Given the description of an element on the screen output the (x, y) to click on. 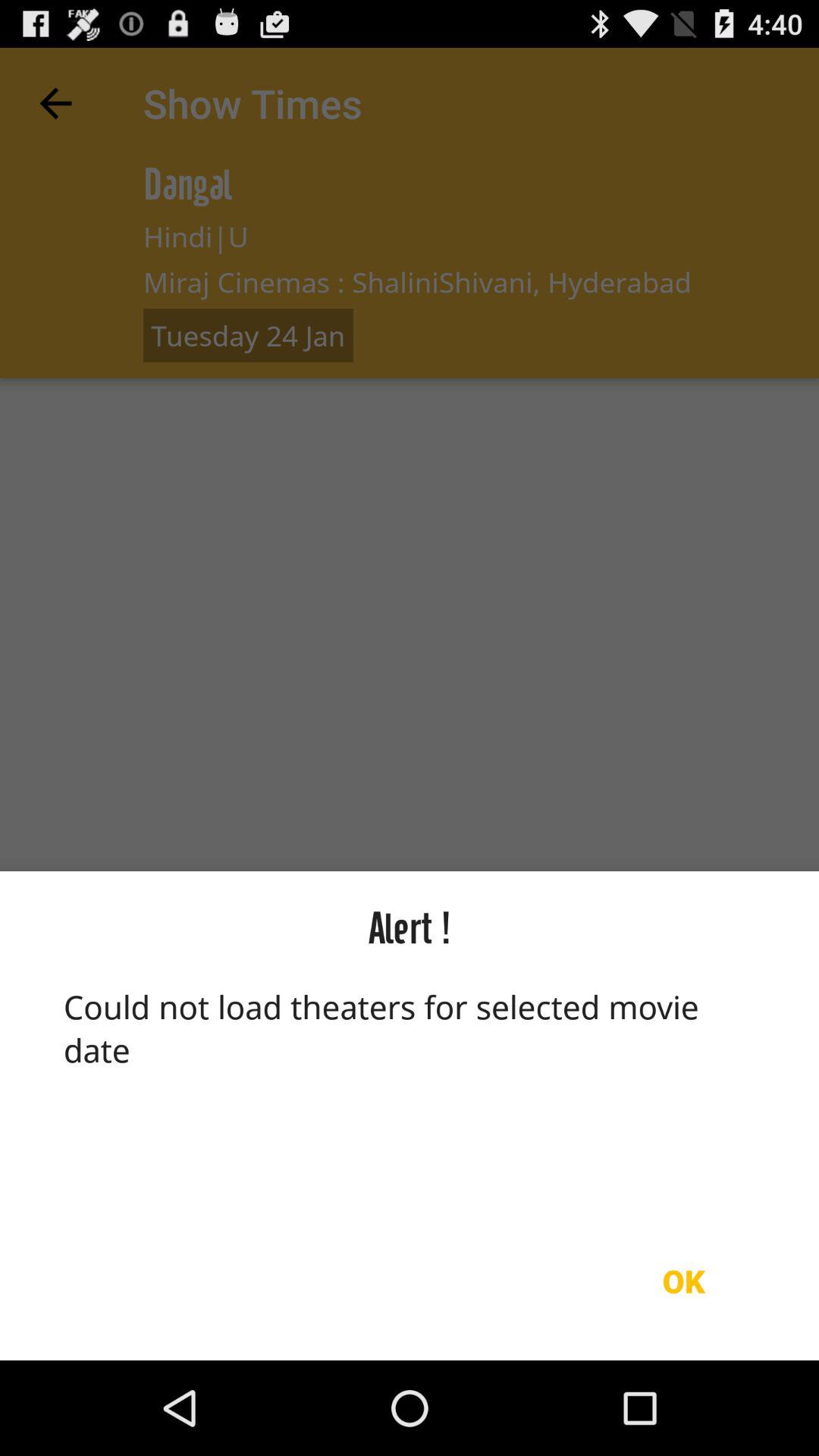
open the ok item (683, 1280)
